Given the description of an element on the screen output the (x, y) to click on. 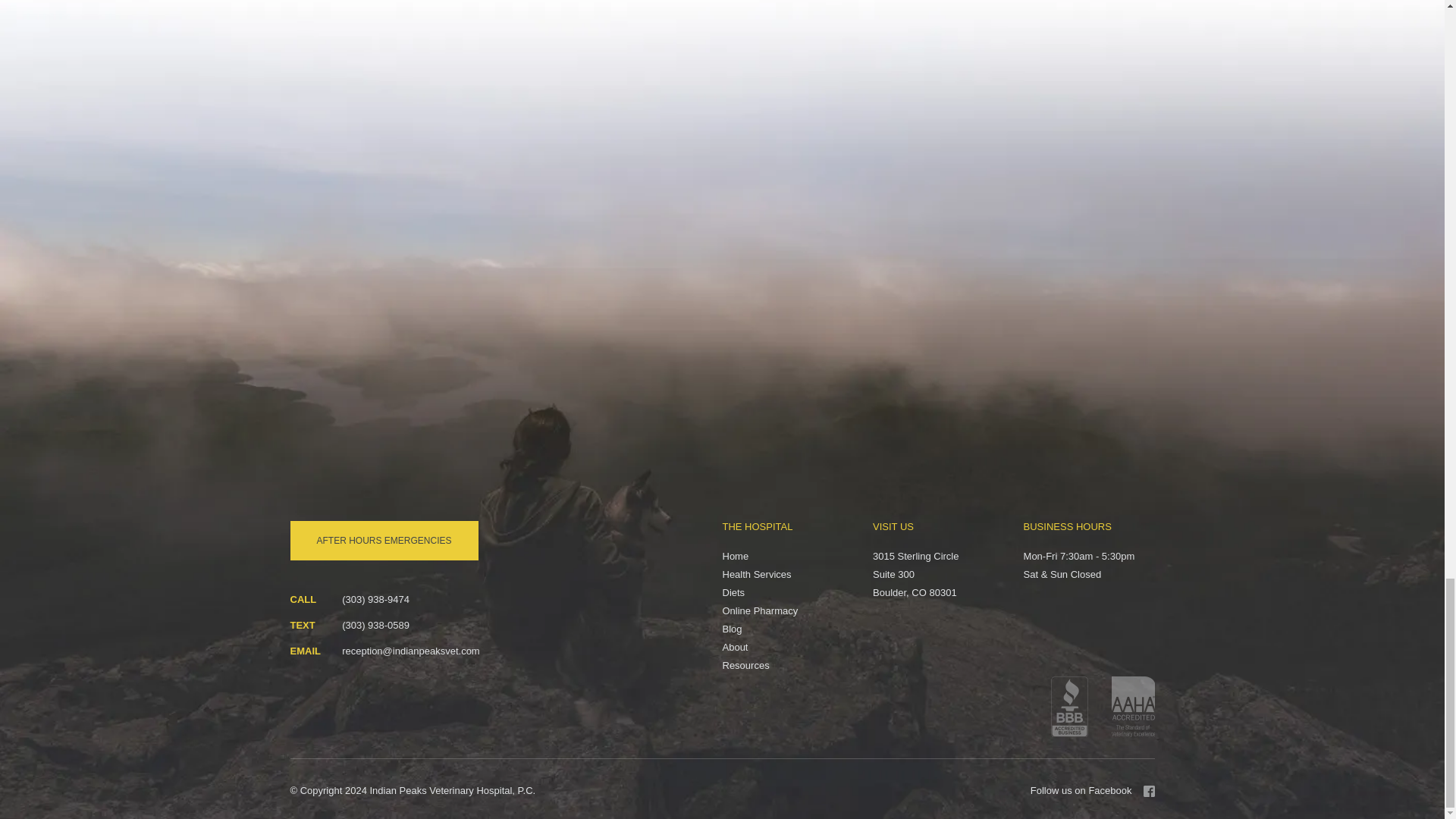
AFTER HOURS EMERGENCIES (383, 540)
Resources (745, 665)
Follow us on Facebook (1092, 791)
Blog (731, 628)
Diets (733, 592)
Home (735, 556)
About (735, 647)
Online Pharmacy (759, 610)
Health Services (756, 574)
